Given the description of an element on the screen output the (x, y) to click on. 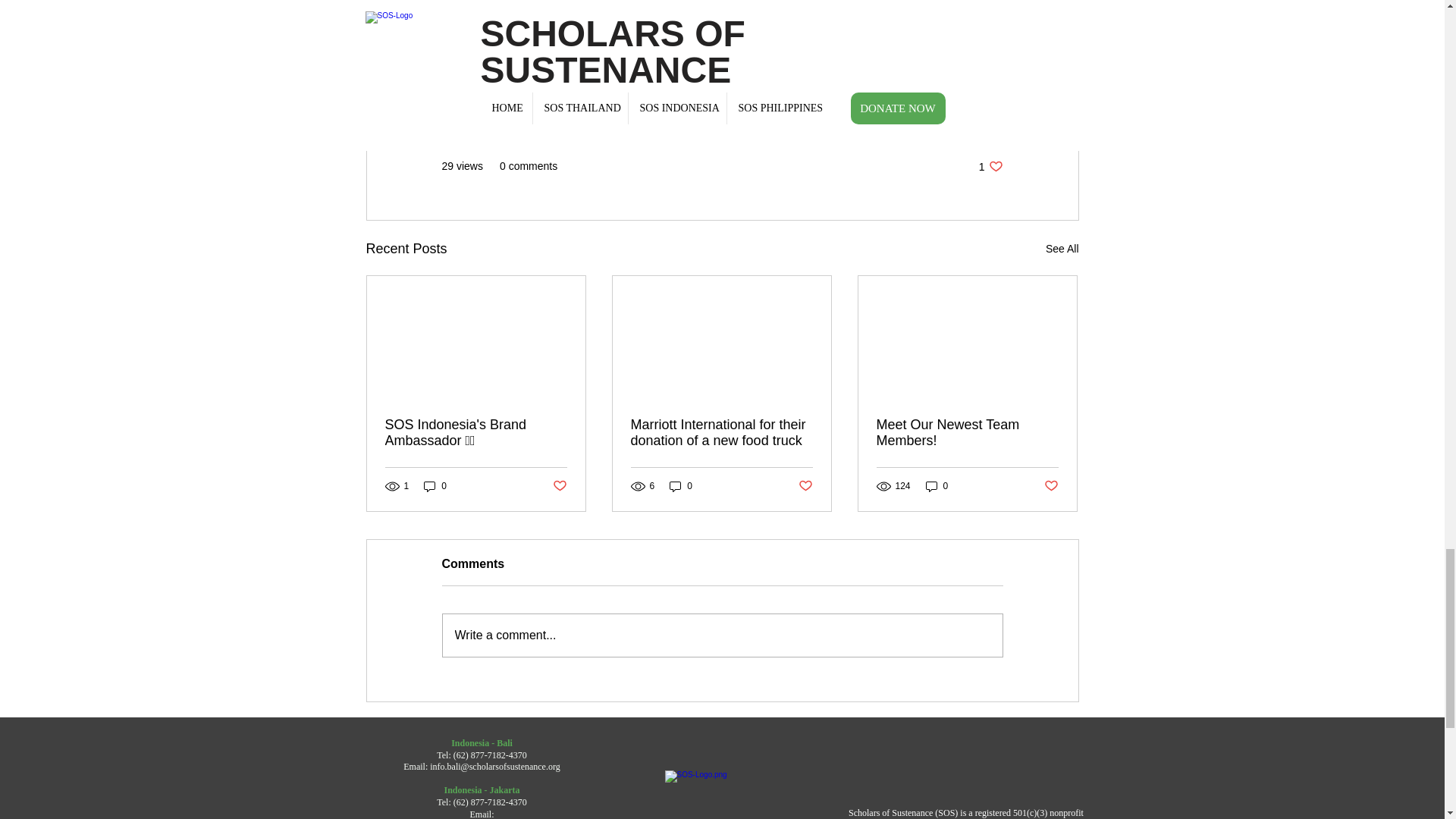
0 (681, 486)
0 (990, 165)
Post not marked as liked (435, 486)
See All (558, 485)
